Given the description of an element on the screen output the (x, y) to click on. 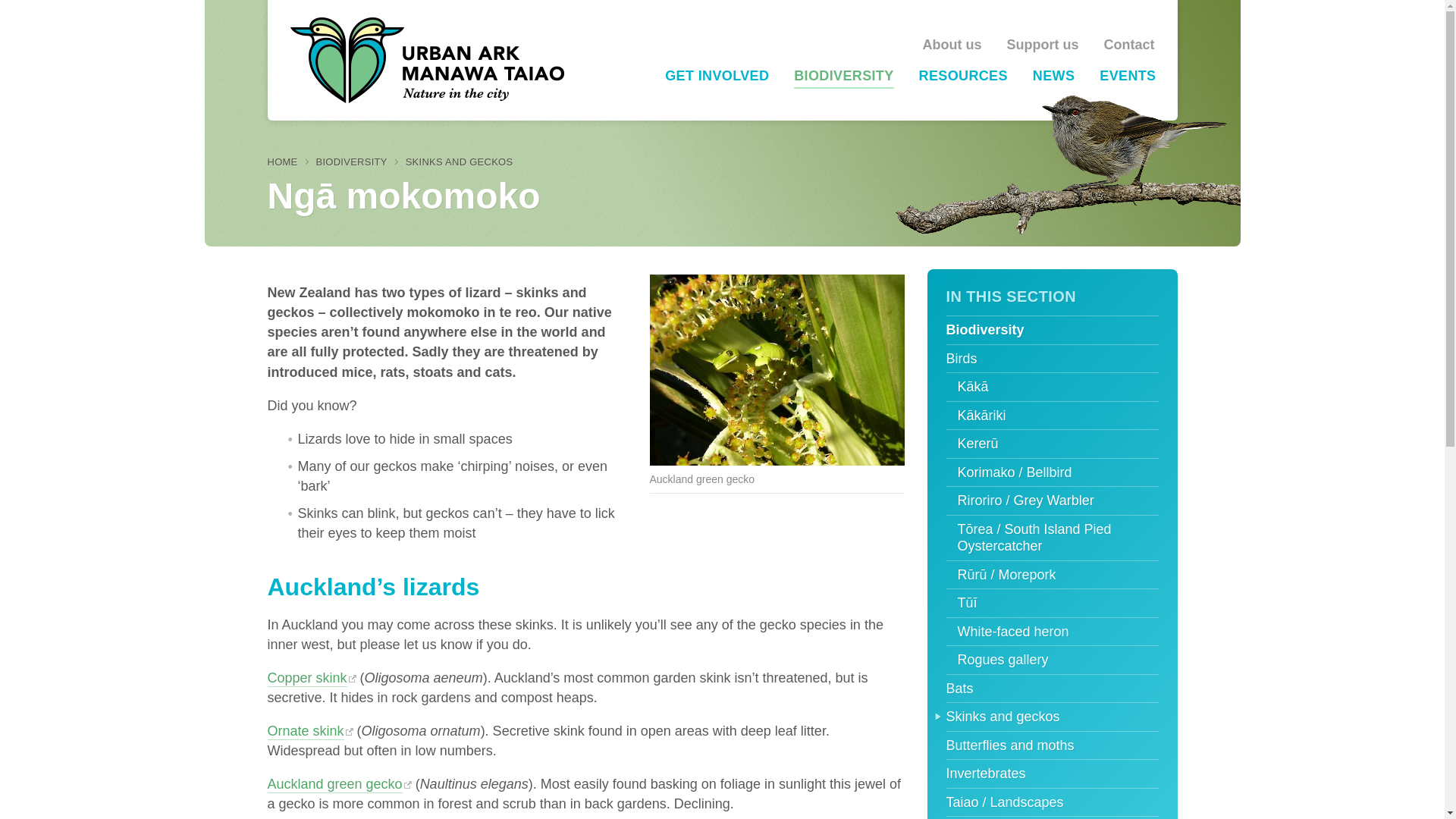
GET INVOLVED (716, 76)
EVENTS (1127, 76)
About us (951, 46)
HOME (281, 161)
BIODIVERSITY (843, 77)
Contact (1128, 46)
Support us (1042, 46)
NEWS (1053, 76)
RESOURCES (962, 76)
